Given the description of an element on the screen output the (x, y) to click on. 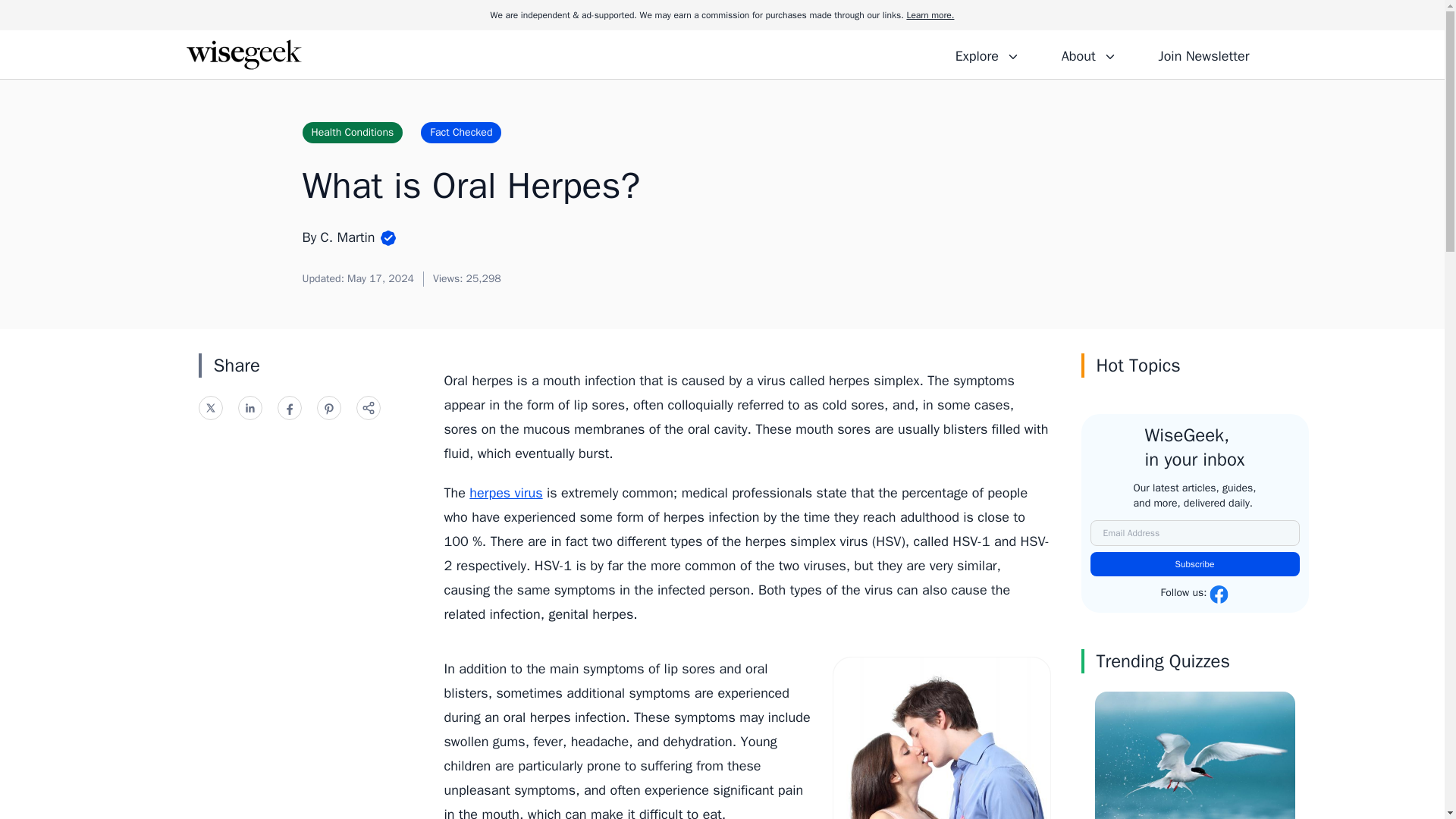
Subscribe (1195, 564)
About (1088, 54)
Follow us: (1194, 594)
Join Newsletter (1202, 54)
Explore (986, 54)
herpes virus (504, 492)
Fact Checked (460, 132)
Learn more. (929, 15)
Health Conditions (352, 132)
